Given the description of an element on the screen output the (x, y) to click on. 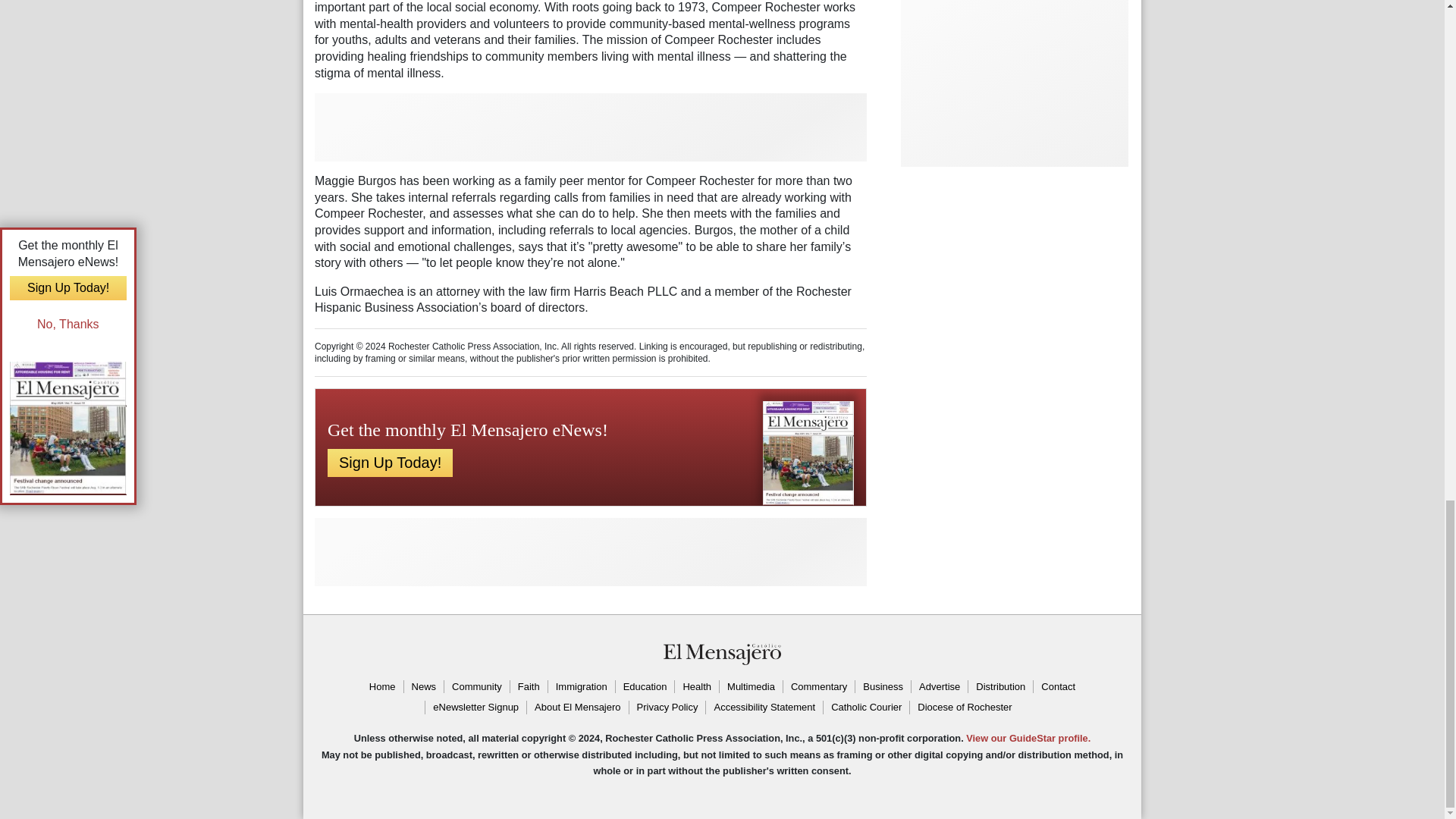
Privacy Policy (667, 707)
Distribution (1000, 686)
Faith (528, 686)
About El Mensajero (576, 707)
Community (476, 686)
Business (882, 686)
Education (644, 686)
eNewsletter Signup (475, 707)
Home (382, 686)
Immigration (580, 686)
Health (696, 686)
Commentary (818, 686)
Multimedia (751, 686)
Contact (1057, 686)
News (423, 686)
